Given the description of an element on the screen output the (x, y) to click on. 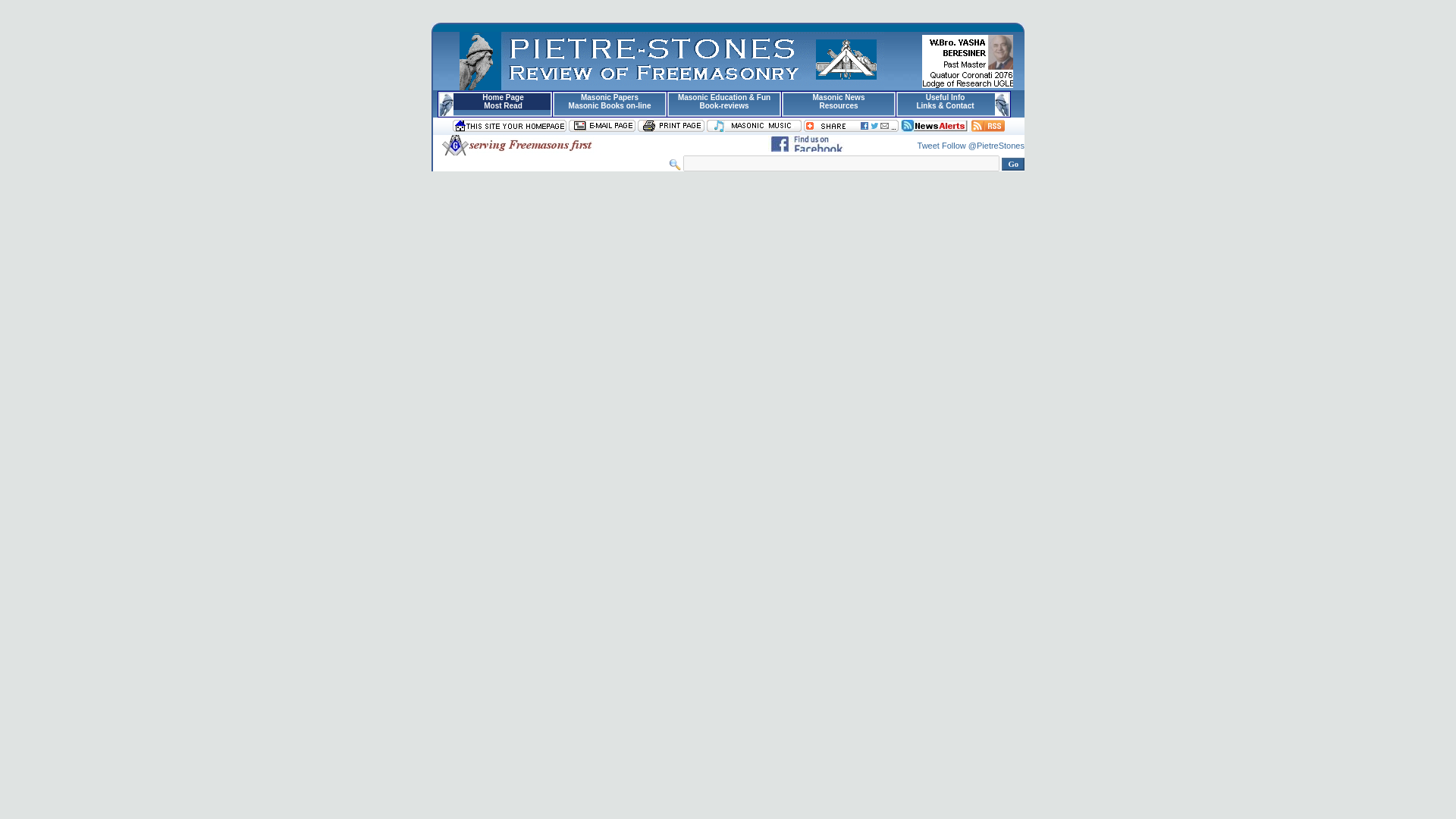
Tweet (928, 144)
Go (1013, 164)
Go (1013, 164)
